Given the description of an element on the screen output the (x, y) to click on. 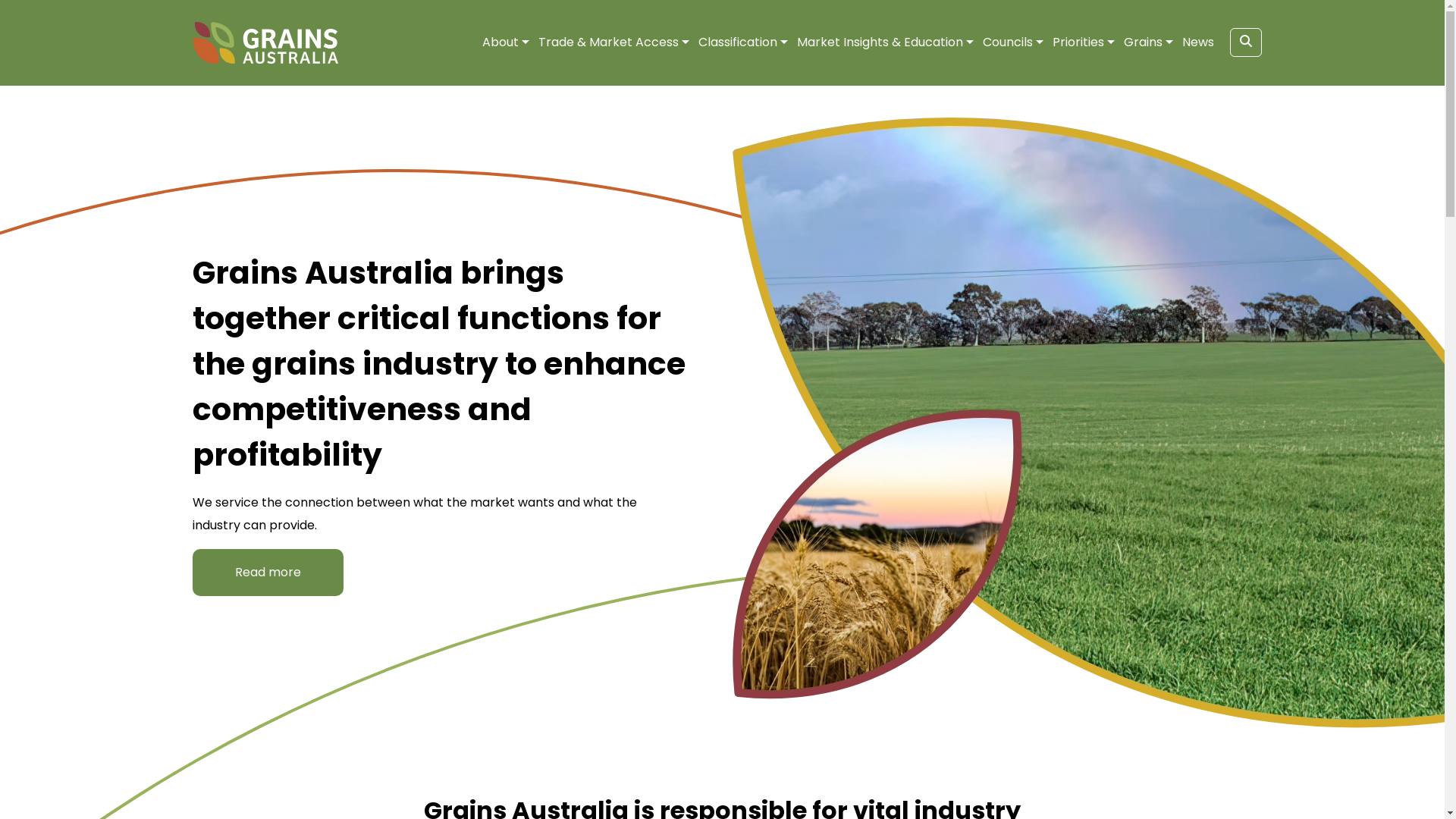
Councils Element type: text (1007, 42)
Priorities Element type: text (1078, 42)
Grains Element type: text (1142, 42)
News Element type: text (1197, 42)
Read more Element type: text (267, 572)
Trade & Market Access Element type: text (608, 42)
Market Insights & Education Element type: text (879, 42)
About Element type: text (500, 42)
Classification Element type: text (736, 42)
Search Element type: text (1245, 42)
